Given the description of an element on the screen output the (x, y) to click on. 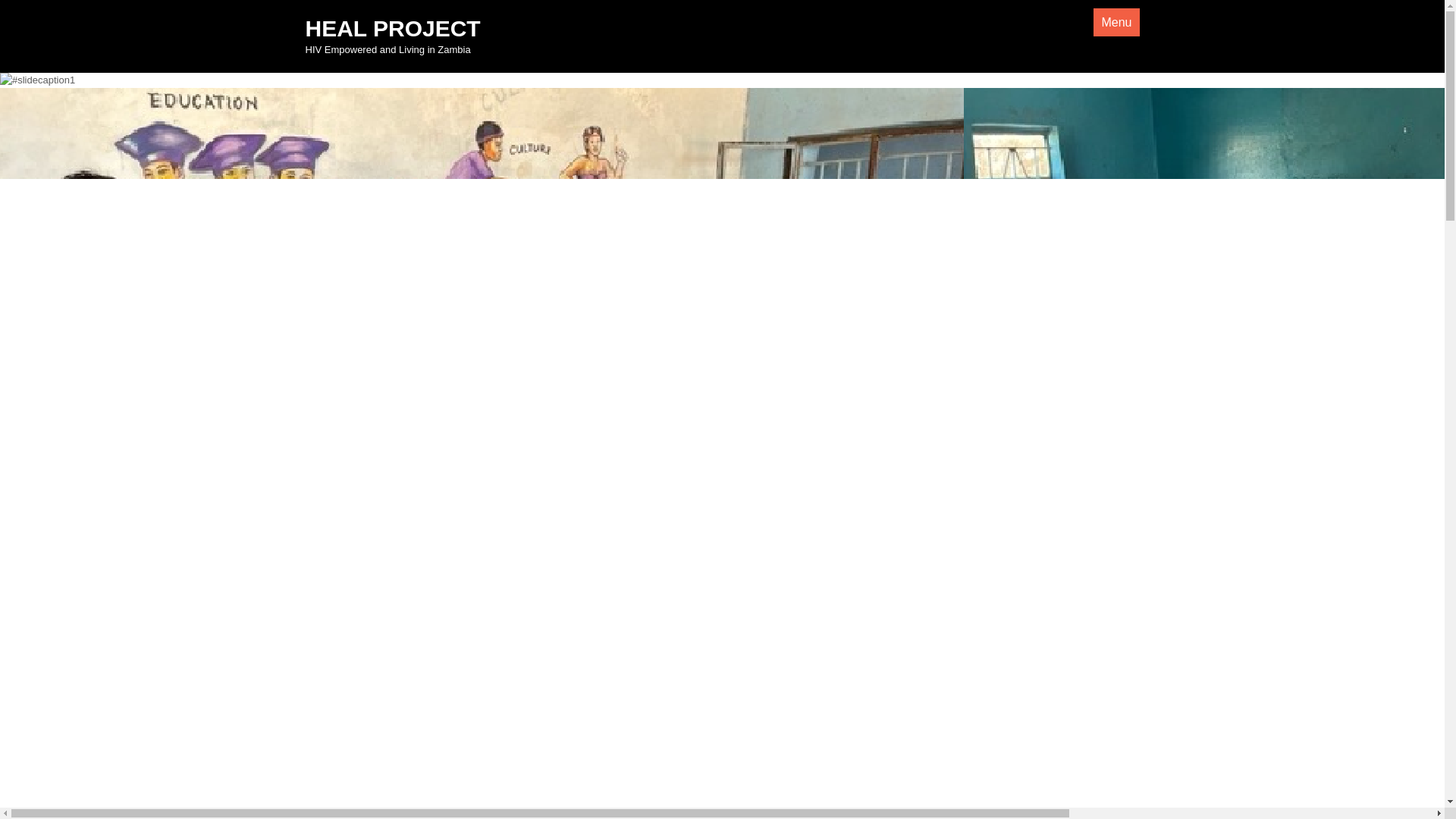
Menu (1115, 22)
HEAL PROJECT (392, 27)
